Given the description of an element on the screen output the (x, y) to click on. 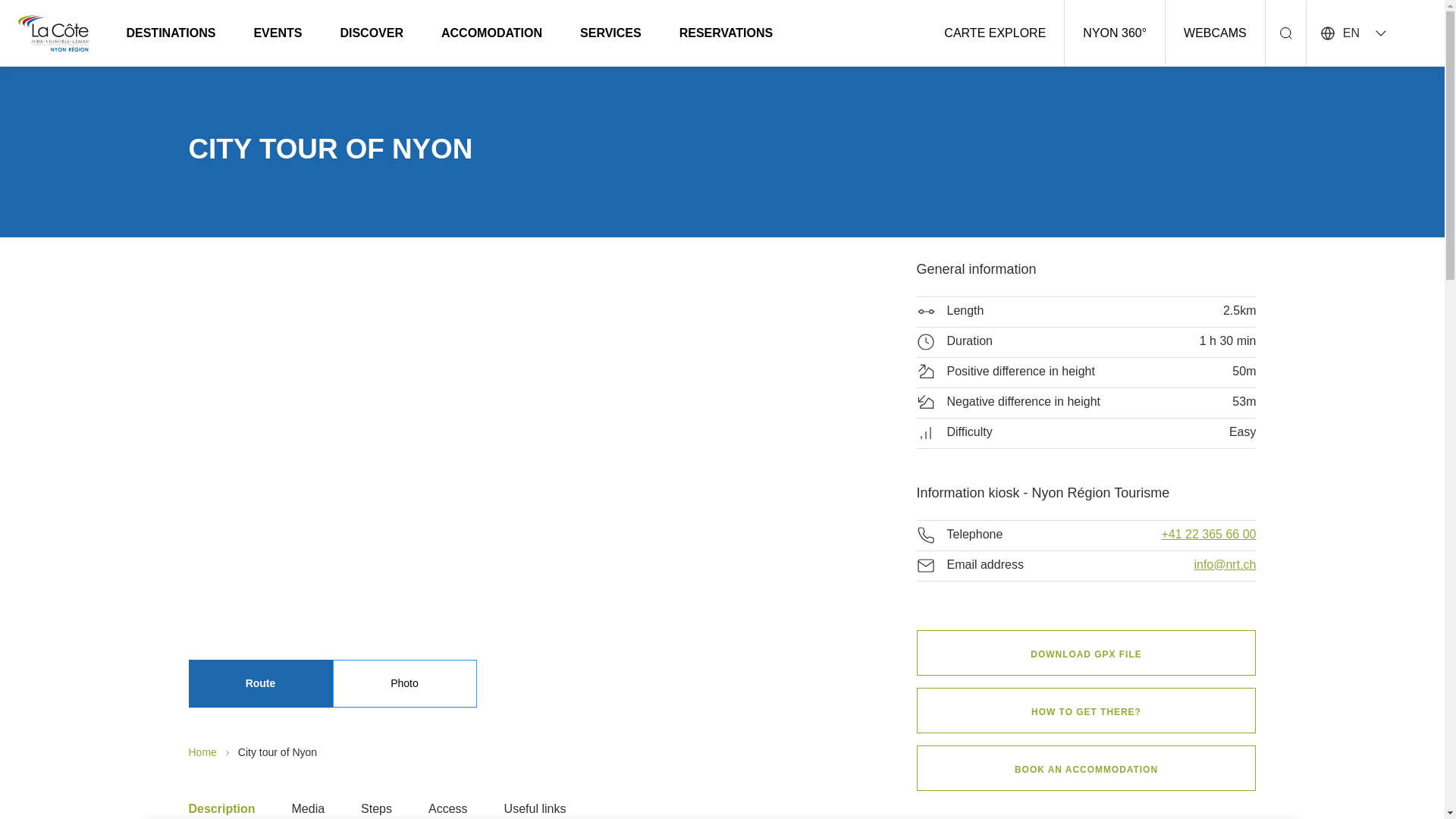
DISCOVER (371, 32)
EVENTS (277, 32)
DESTINATIONS (170, 32)
